Given the description of an element on the screen output the (x, y) to click on. 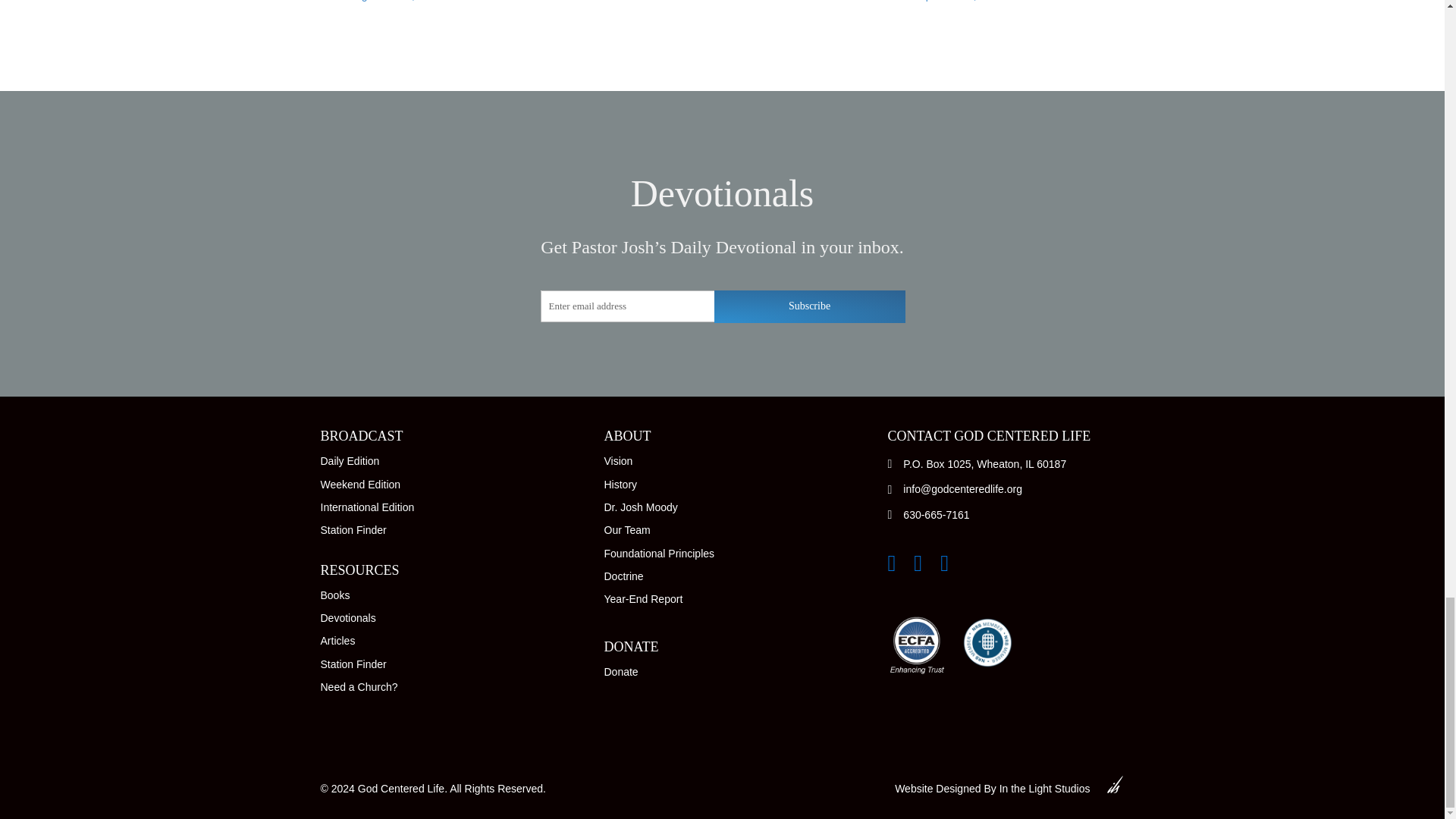
Subscribe (809, 306)
Daily Edition (349, 460)
ILS-Logo (1114, 783)
